Given the description of an element on the screen output the (x, y) to click on. 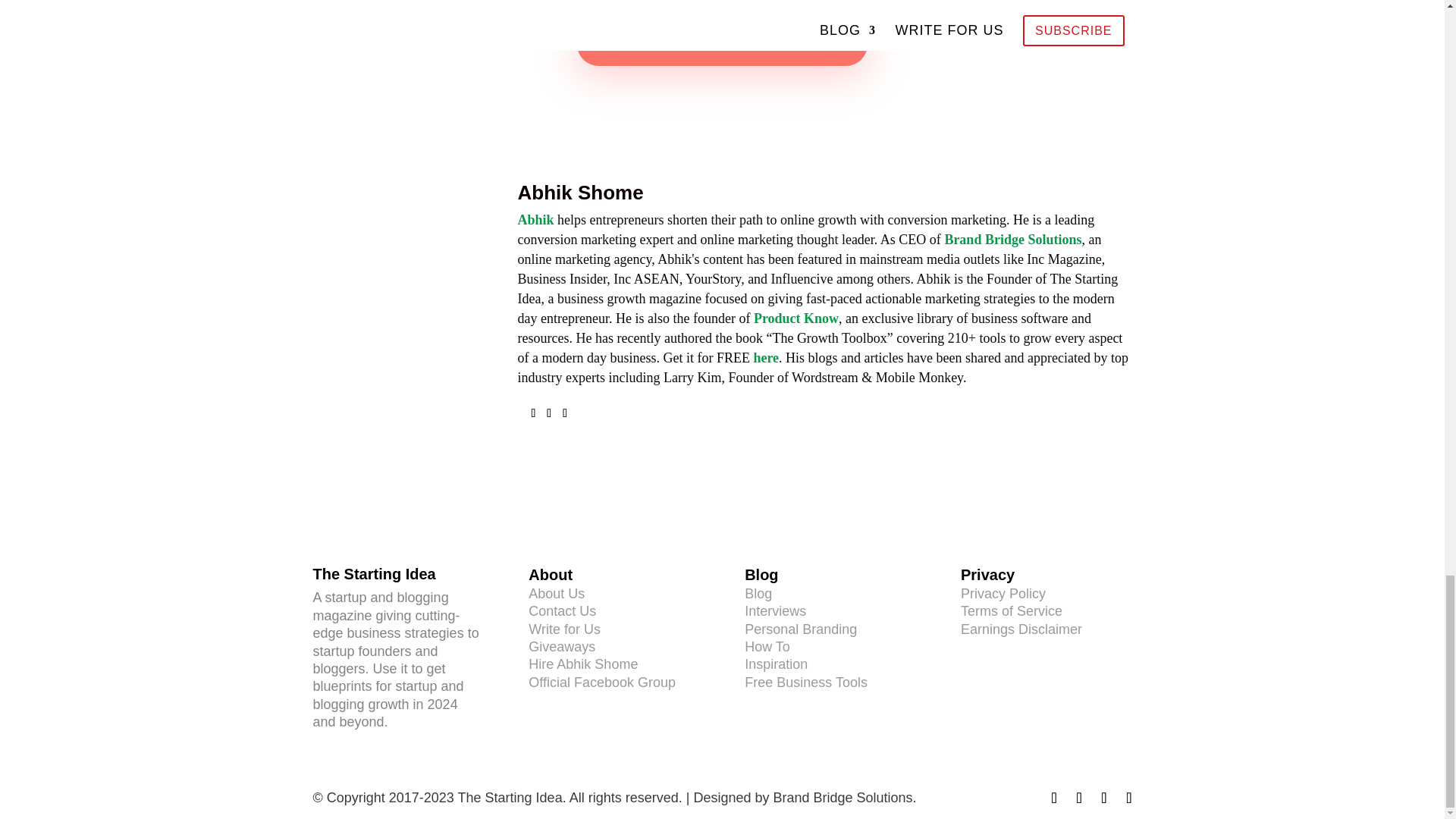
here (765, 357)
BACK TO FREE BUSINESS SOFTWARE (721, 44)
Abhik (534, 219)
About Us (556, 593)
Contact Us (561, 611)
Product Know (796, 318)
Giveaways (561, 646)
Brand Bridge Solutions (1012, 239)
Write for Us (563, 629)
